Given the description of an element on the screen output the (x, y) to click on. 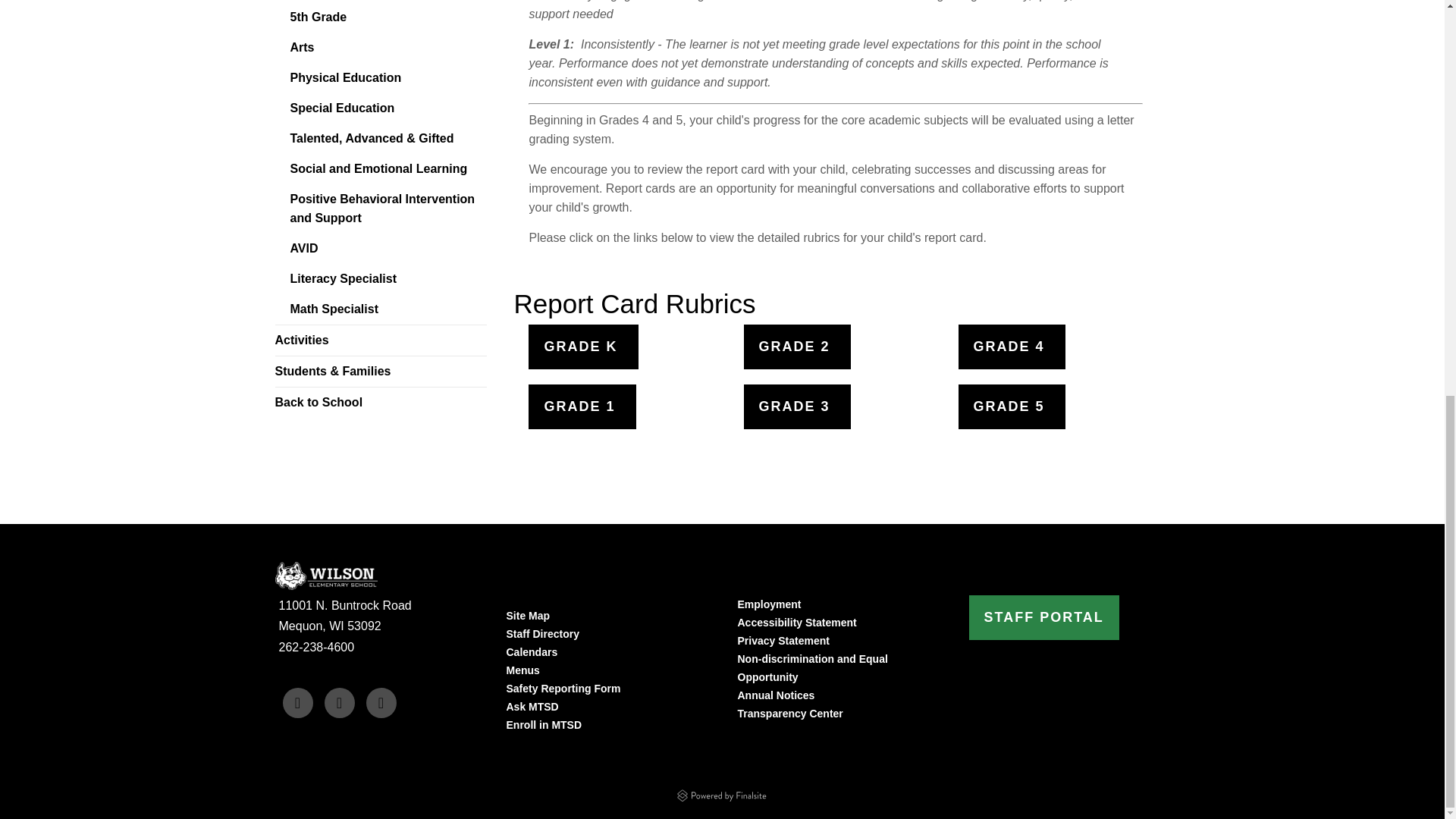
Staff Directory (542, 633)
Transparency Center (789, 713)
Powered by Finalsite opens in a new window (721, 793)
Calendar (531, 652)
Safety Reporting Form (563, 688)
Employment (768, 604)
Wilson Facebook (297, 702)
Accessibility Statement (796, 622)
Privacy Statement (782, 640)
Non-discrimination and Equal Opportunity (811, 667)
Ask MTSD (532, 706)
Menus (523, 670)
